Given the description of an element on the screen output the (x, y) to click on. 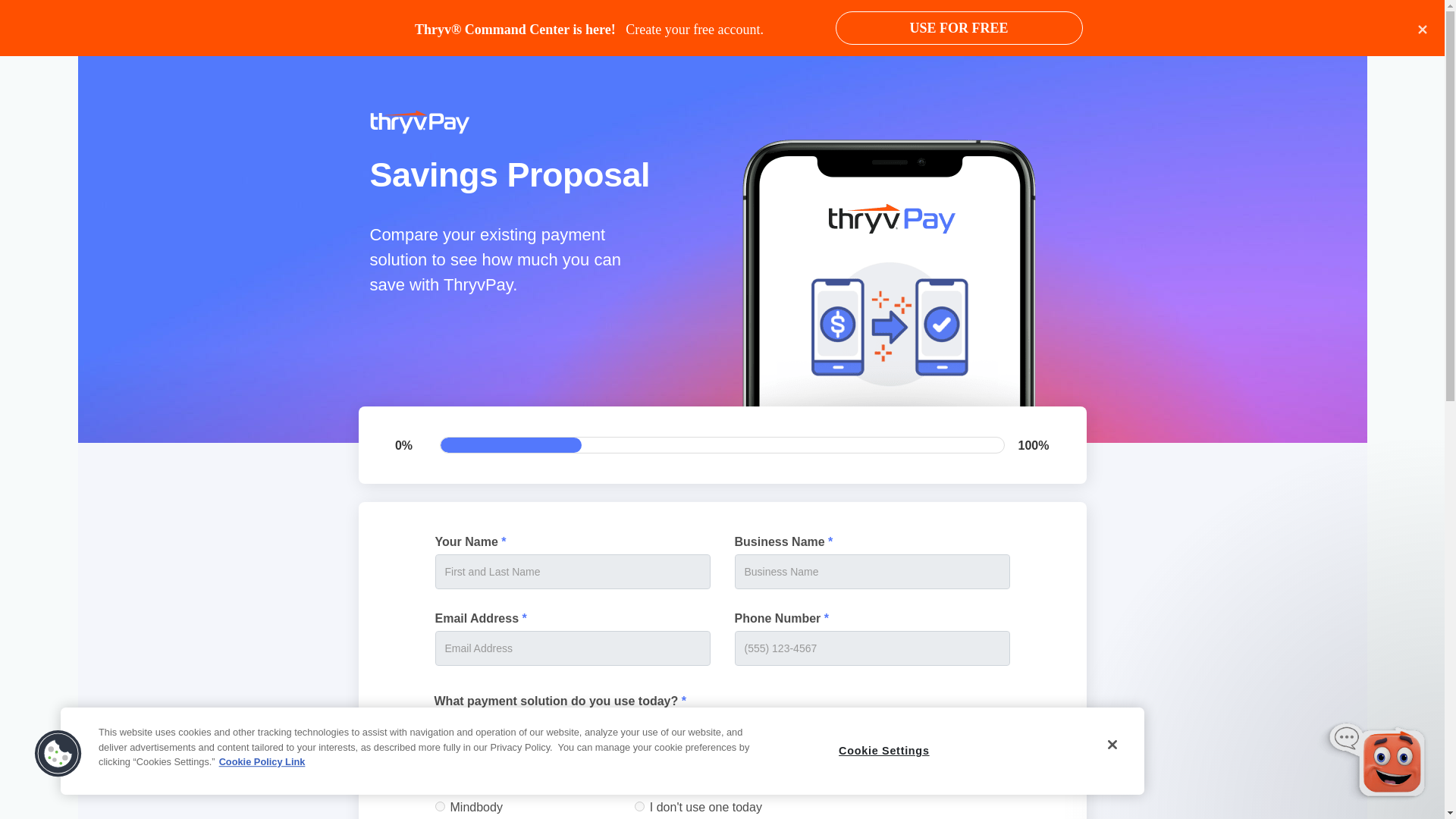
NoSolution (639, 806)
Mindbody (440, 806)
Cookies Button (57, 753)
Cookie Settings (884, 750)
Braintree (440, 731)
HousecallPro (440, 756)
Quickbooks (639, 731)
Cookie Policy Link (262, 761)
USE FOR FREE (959, 28)
Stripe (639, 781)
Square (639, 756)
Jobber (440, 781)
Cookies Button (57, 753)
USE FOR FREE (959, 28)
